Given the description of an element on the screen output the (x, y) to click on. 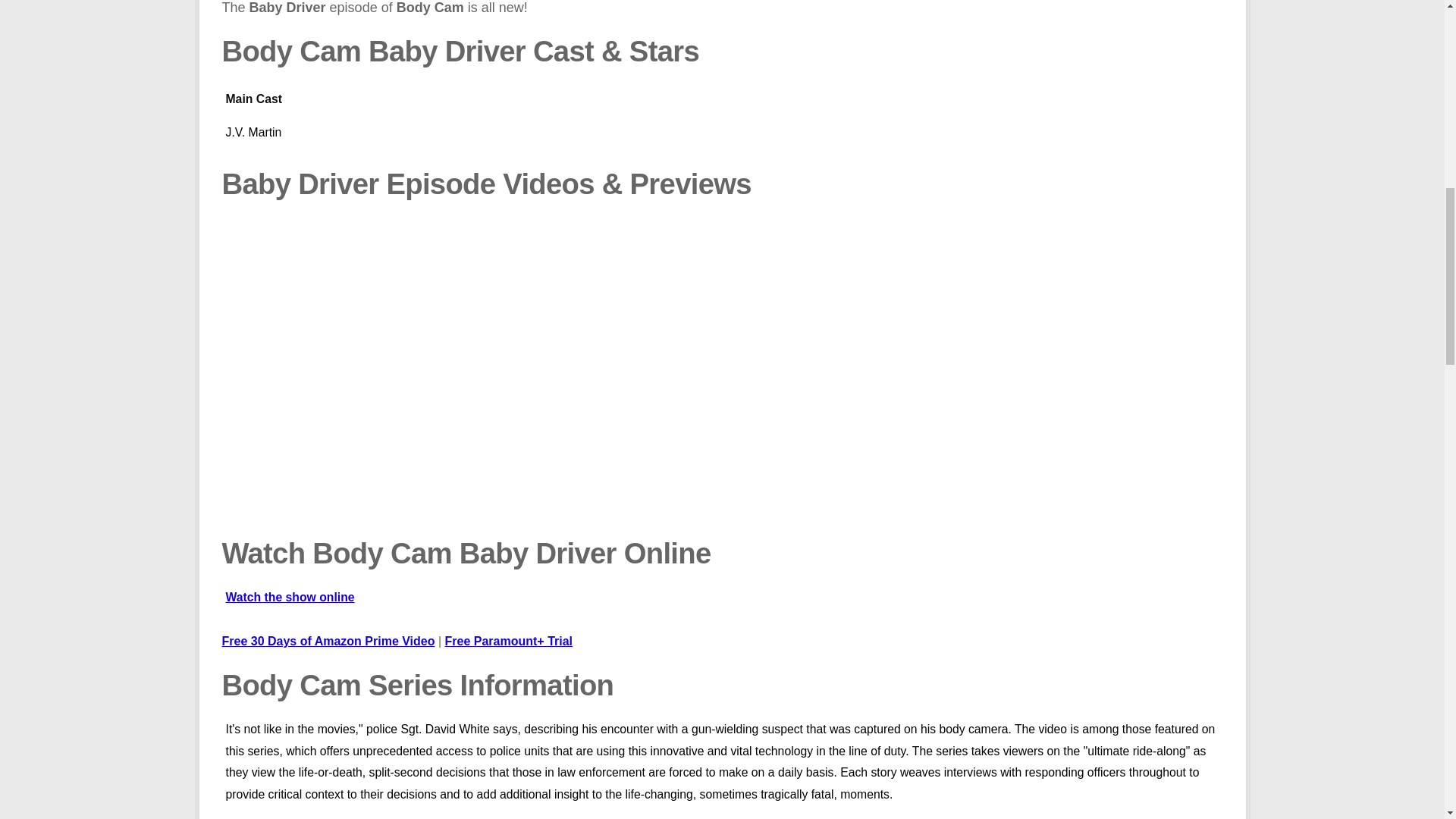
YouTube video player (437, 372)
Watch the show online (722, 123)
